Given the description of an element on the screen output the (x, y) to click on. 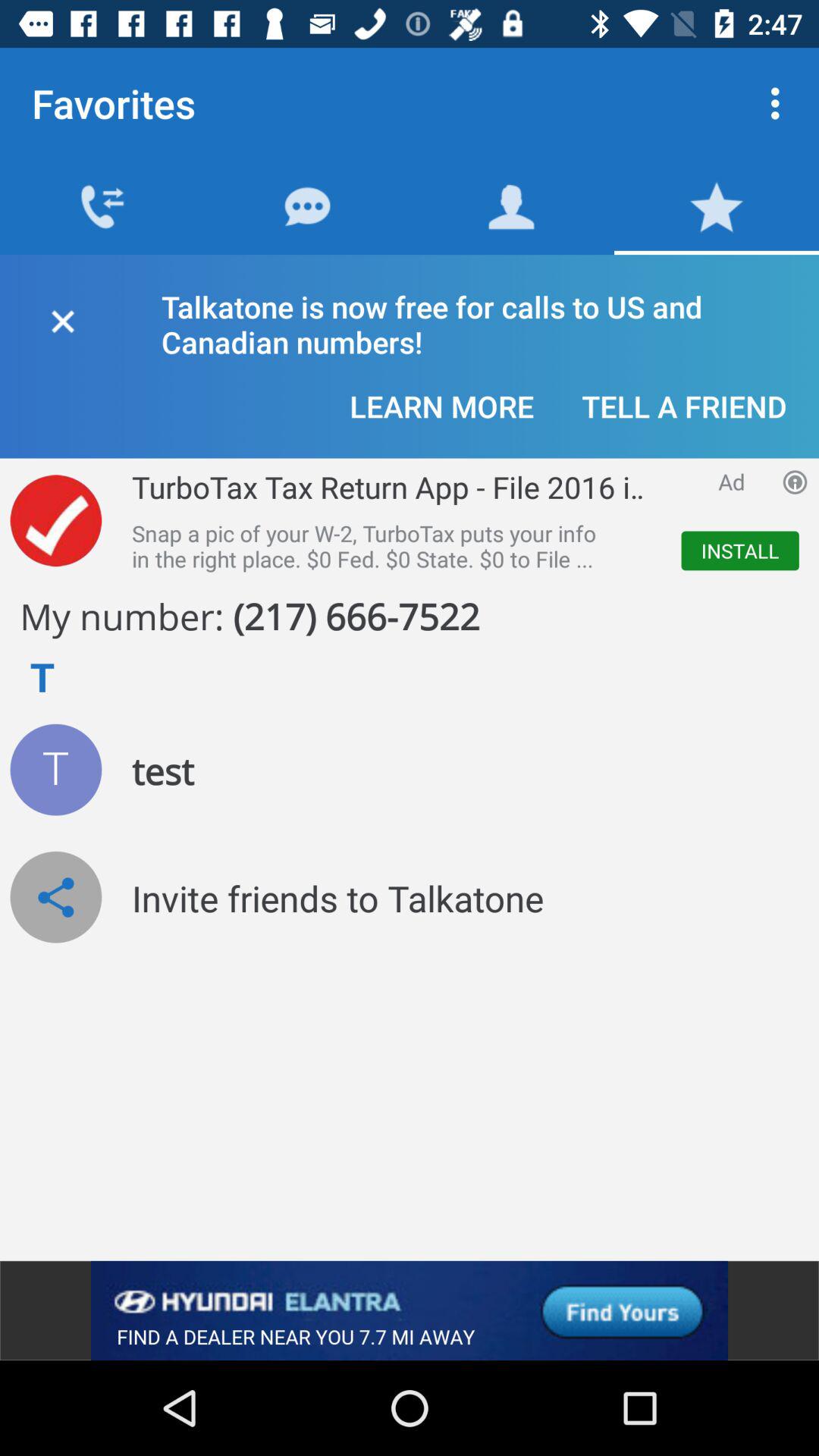
done option (55, 520)
